Given the description of an element on the screen output the (x, y) to click on. 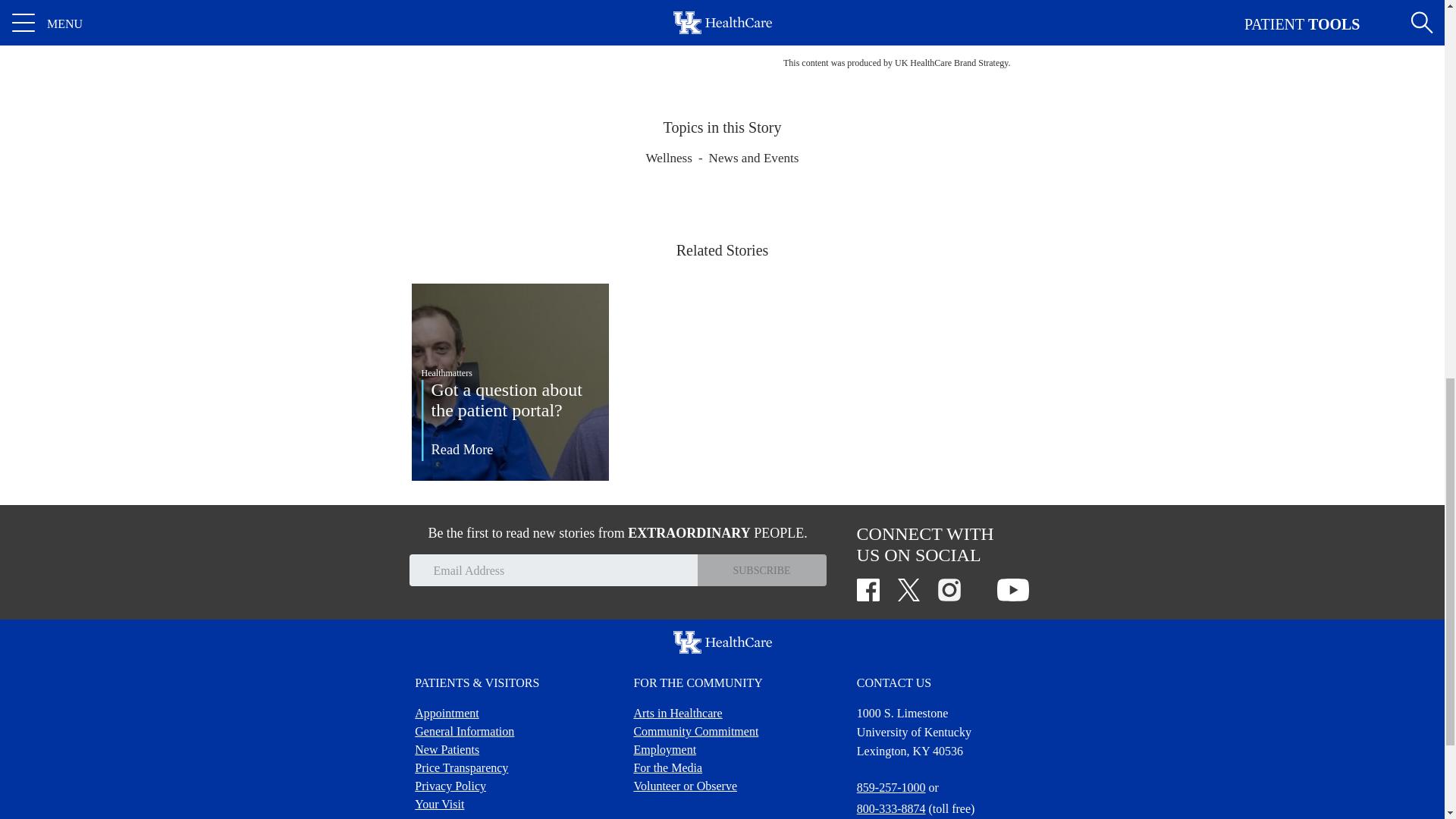
SUBSCRIBE (762, 570)
